Given the description of an element on the screen output the (x, y) to click on. 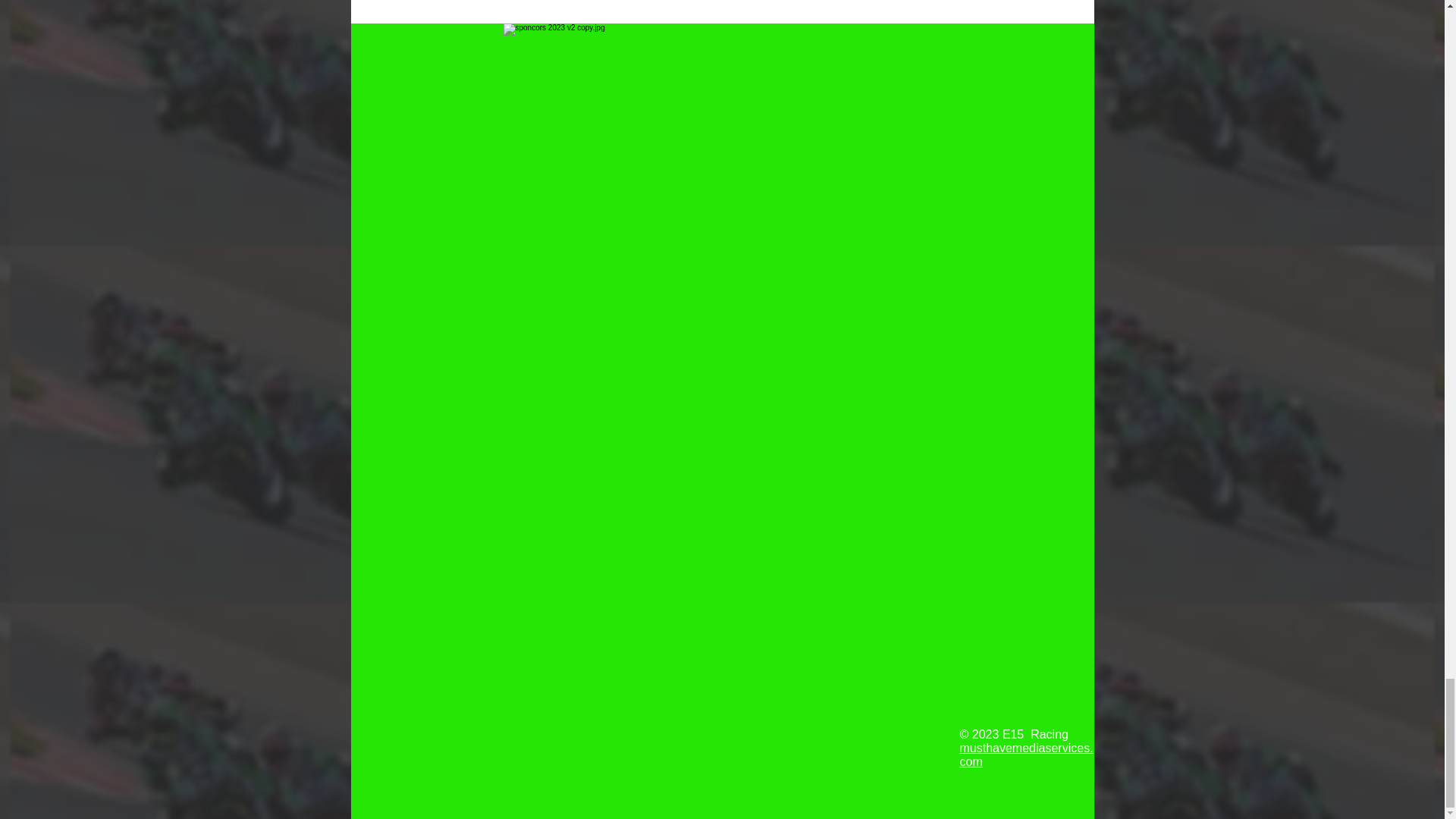
musthavemediaservices.com (1026, 755)
E15  Racing (1033, 734)
